Given the description of an element on the screen output the (x, y) to click on. 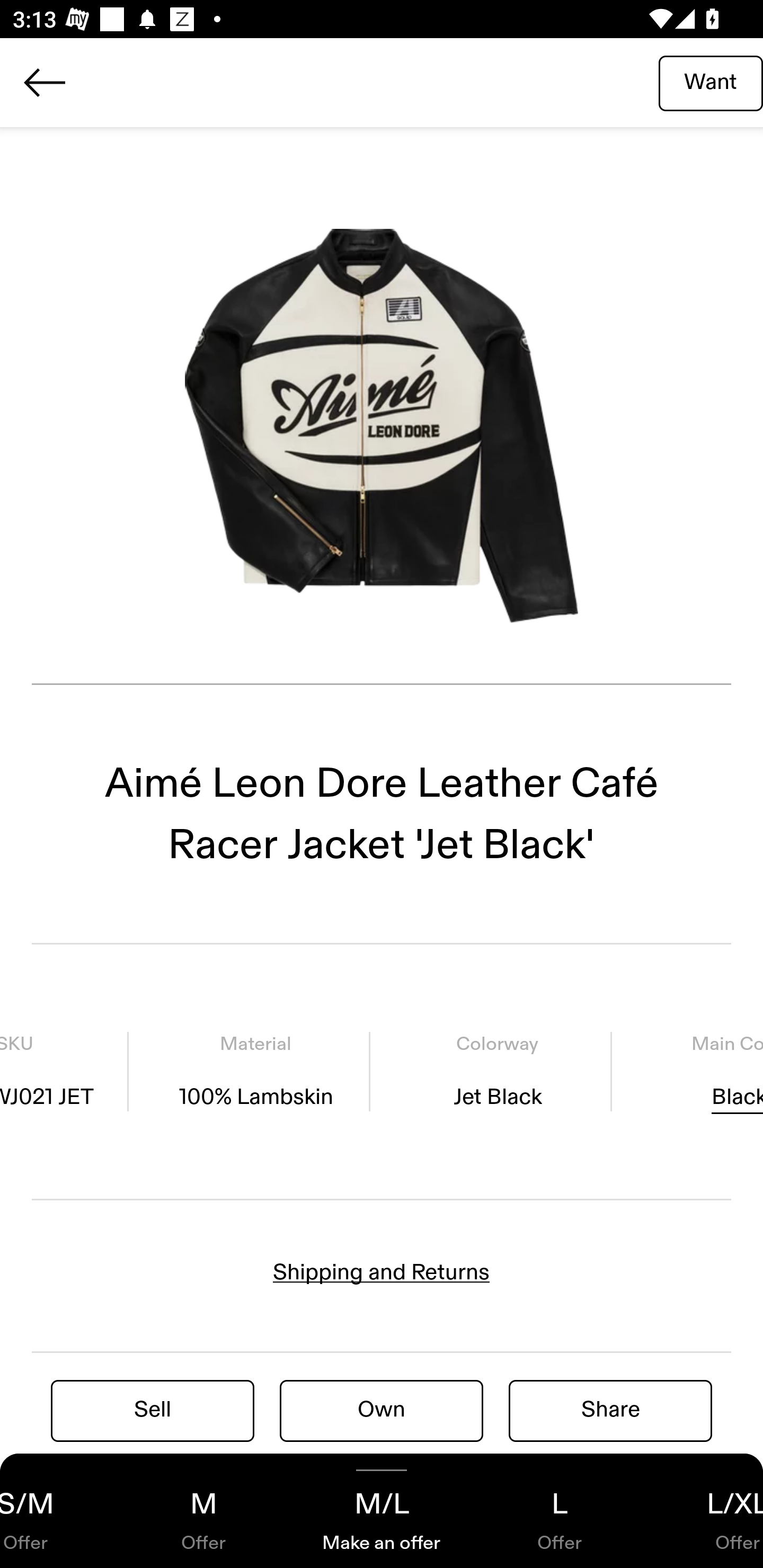
Want (710, 82)
Material 100% Lambskin (255, 1070)
Colorway Jet Black (497, 1070)
Shipping and Returns (381, 1272)
Sell (152, 1410)
Own (381, 1410)
Share (609, 1410)
S/M Offer (57, 1510)
M Offer (203, 1510)
M/L Make an offer (381, 1510)
L Offer (559, 1510)
L/XL Offer (705, 1510)
